Given the description of an element on the screen output the (x, y) to click on. 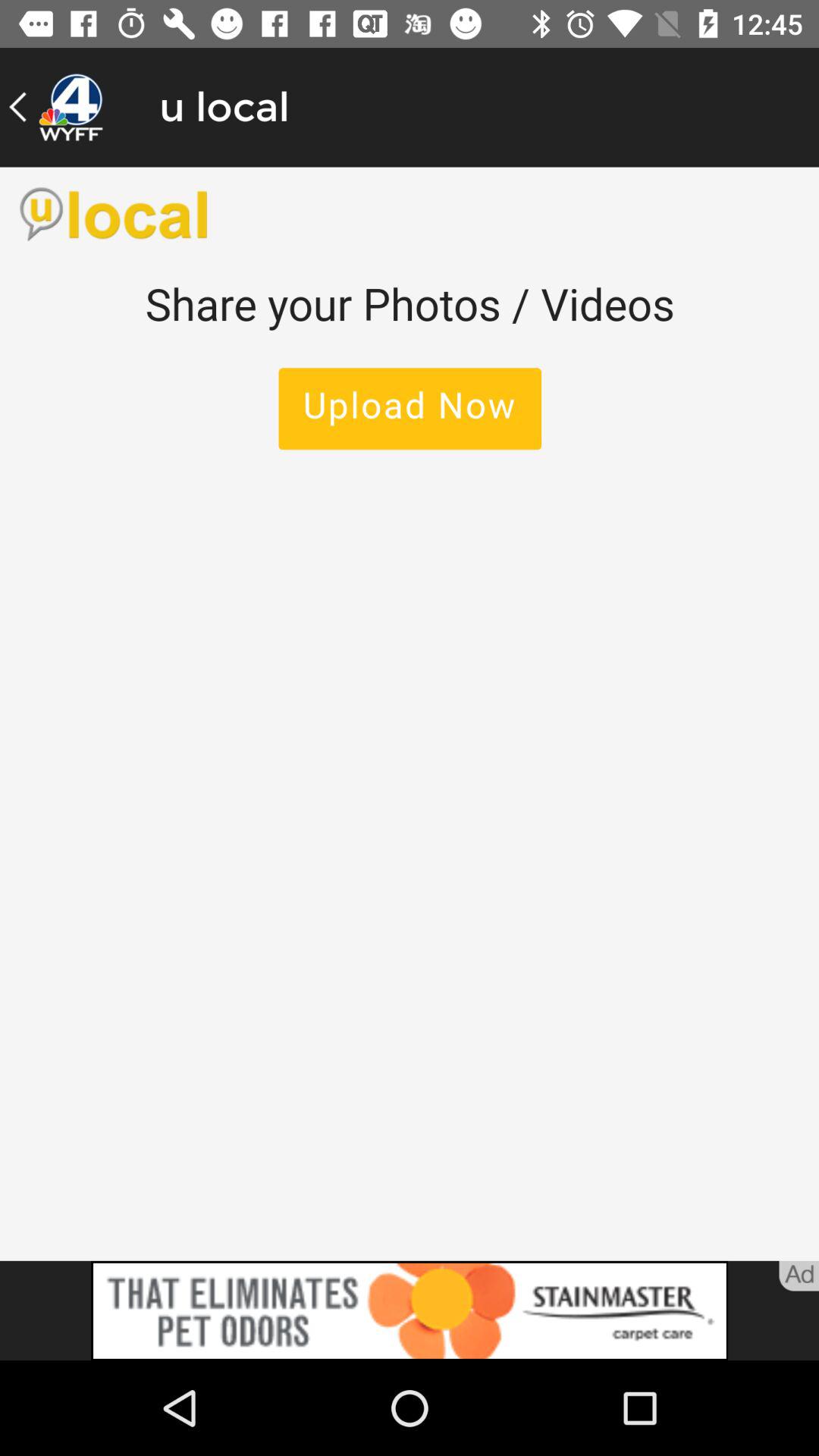
go to advertisement (409, 1310)
